Given the description of an element on the screen output the (x, y) to click on. 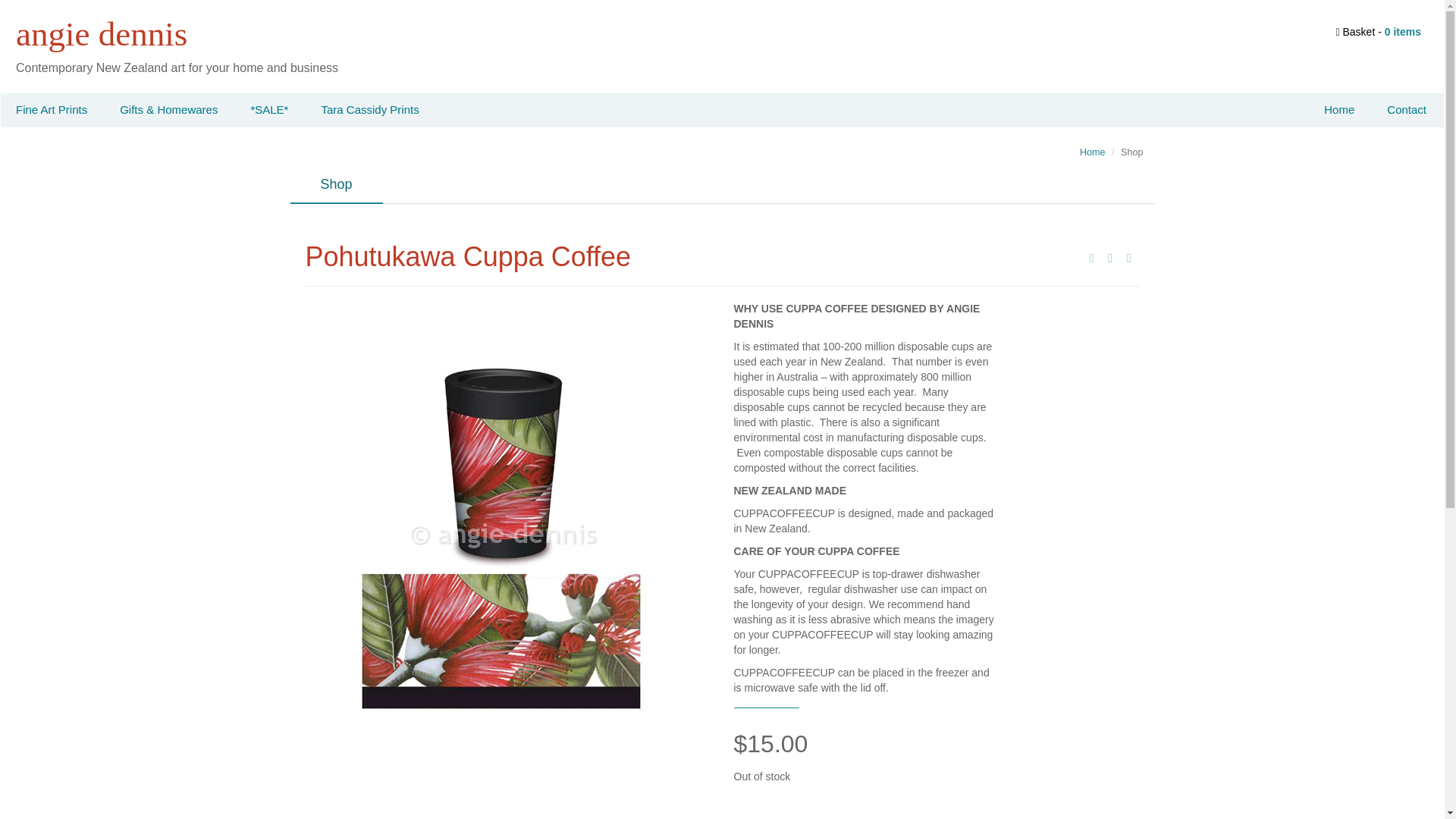
Home (1339, 110)
Tara Cassidy Prints (369, 110)
angie dennis (101, 34)
Shop (335, 185)
Contact (1406, 110)
Fine Art Prints (51, 110)
Home (1092, 152)
Basket - 0 items (1378, 31)
